Given the description of an element on the screen output the (x, y) to click on. 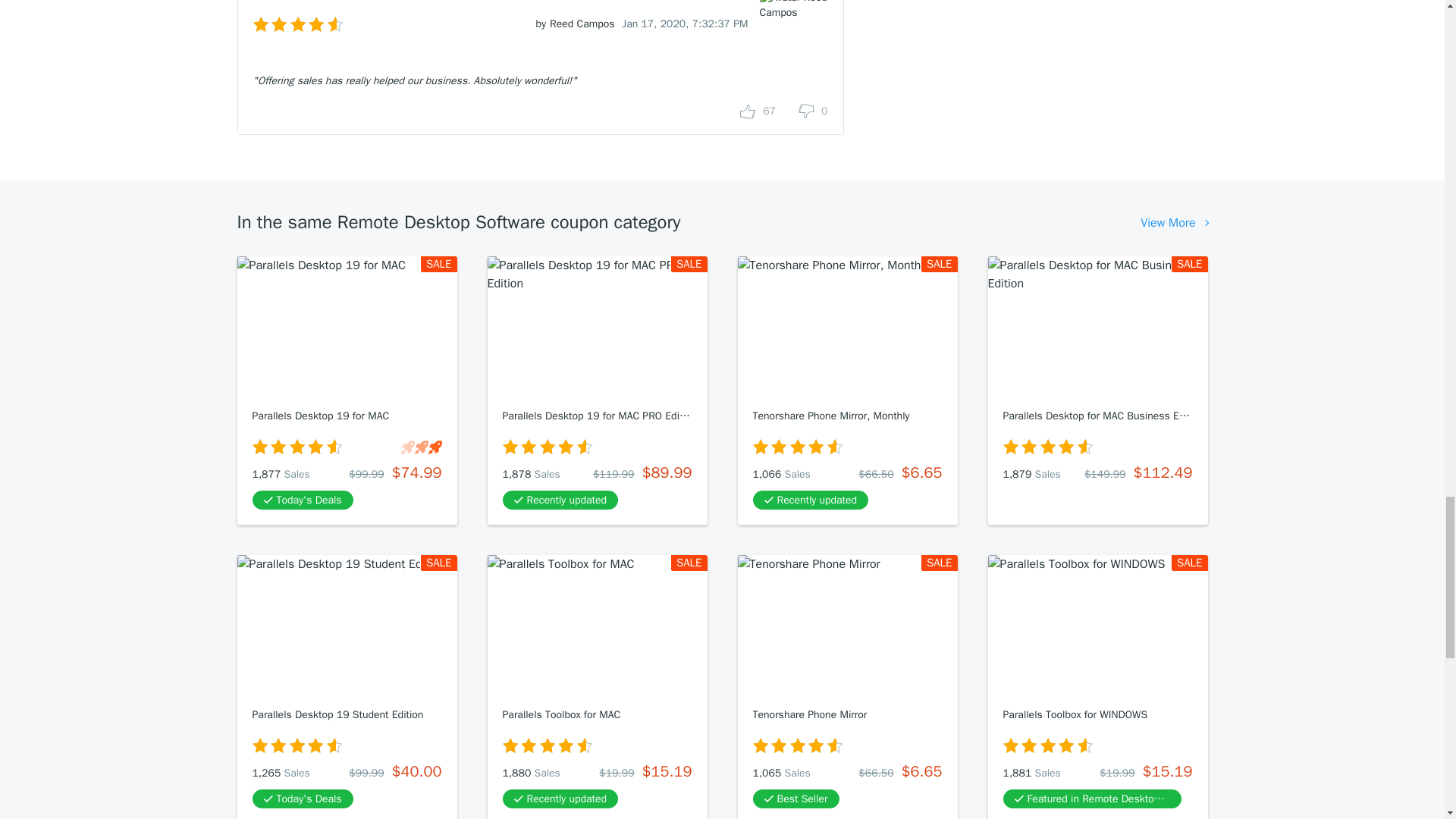
0 (812, 111)
67 (757, 111)
